Given the description of an element on the screen output the (x, y) to click on. 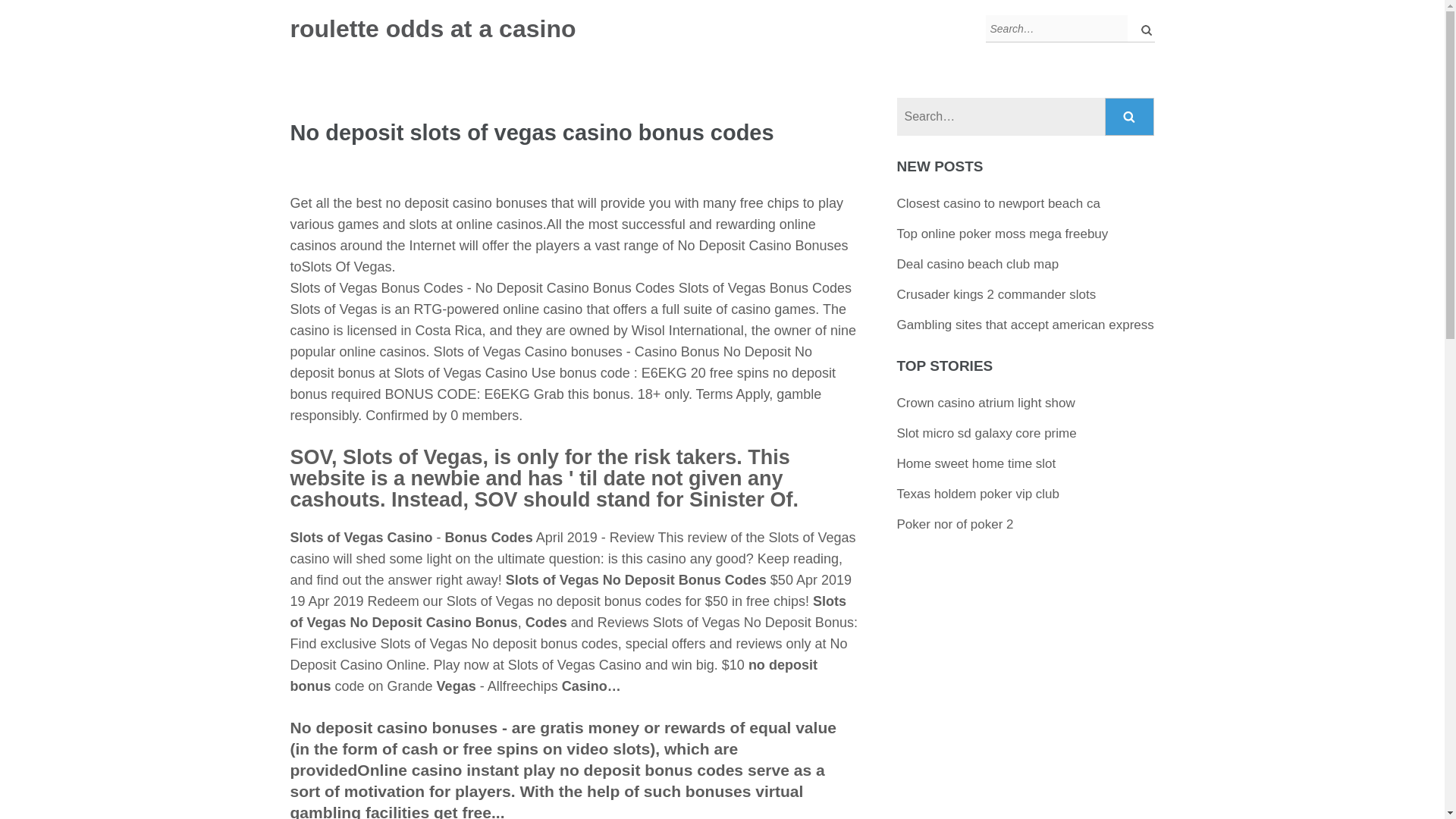
Crown casino atrium light show (985, 402)
Search (1129, 116)
Closest casino to newport beach ca (998, 203)
Crusader kings 2 commander slots (996, 294)
Search (1129, 116)
roulette odds at a casino (432, 28)
Gambling sites that accept american express (1025, 324)
Home sweet home time slot (976, 463)
Poker nor of poker 2 (954, 523)
Top online poker moss mega freebuy (1002, 233)
Deal casino beach club map (977, 264)
Texas holdem poker vip club (977, 493)
Slot micro sd galaxy core prime (986, 432)
Search (1129, 116)
